Given the description of an element on the screen output the (x, y) to click on. 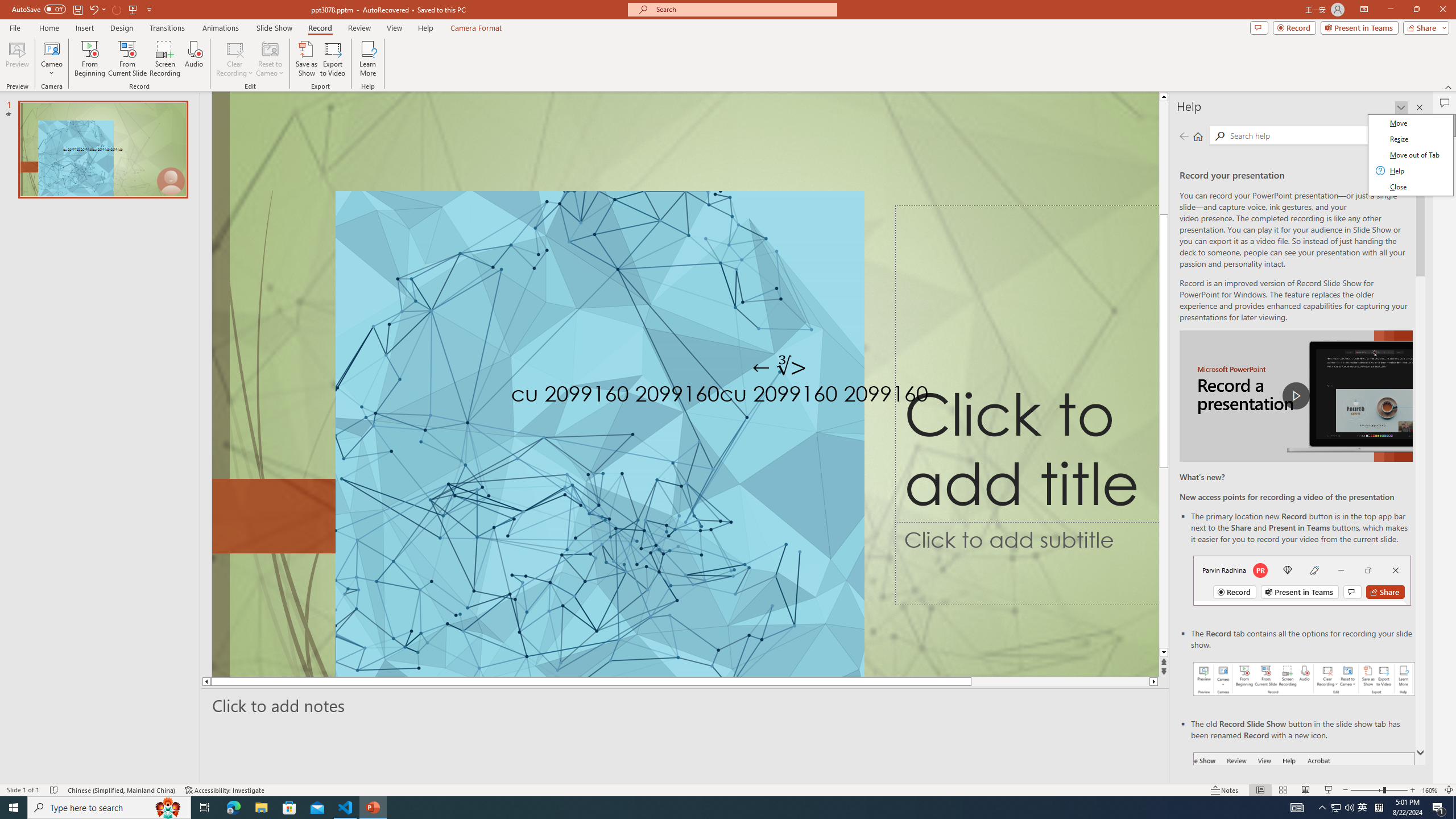
Record your presentations screenshot one (1304, 678)
